Given the description of an element on the screen output the (x, y) to click on. 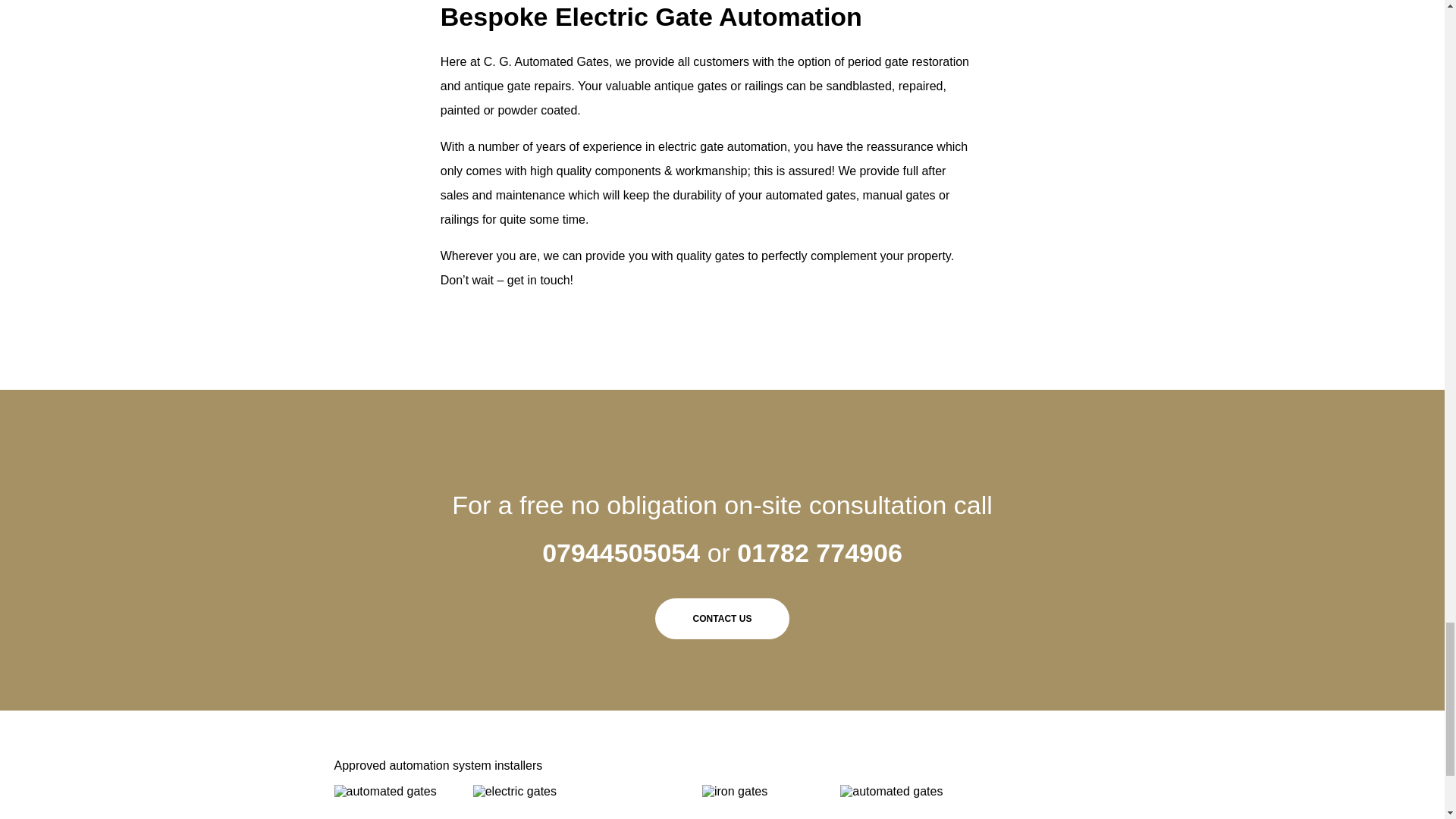
logo-sea (384, 791)
logo-liftmaster (514, 791)
Contact us (722, 618)
